Given the description of an element on the screen output the (x, y) to click on. 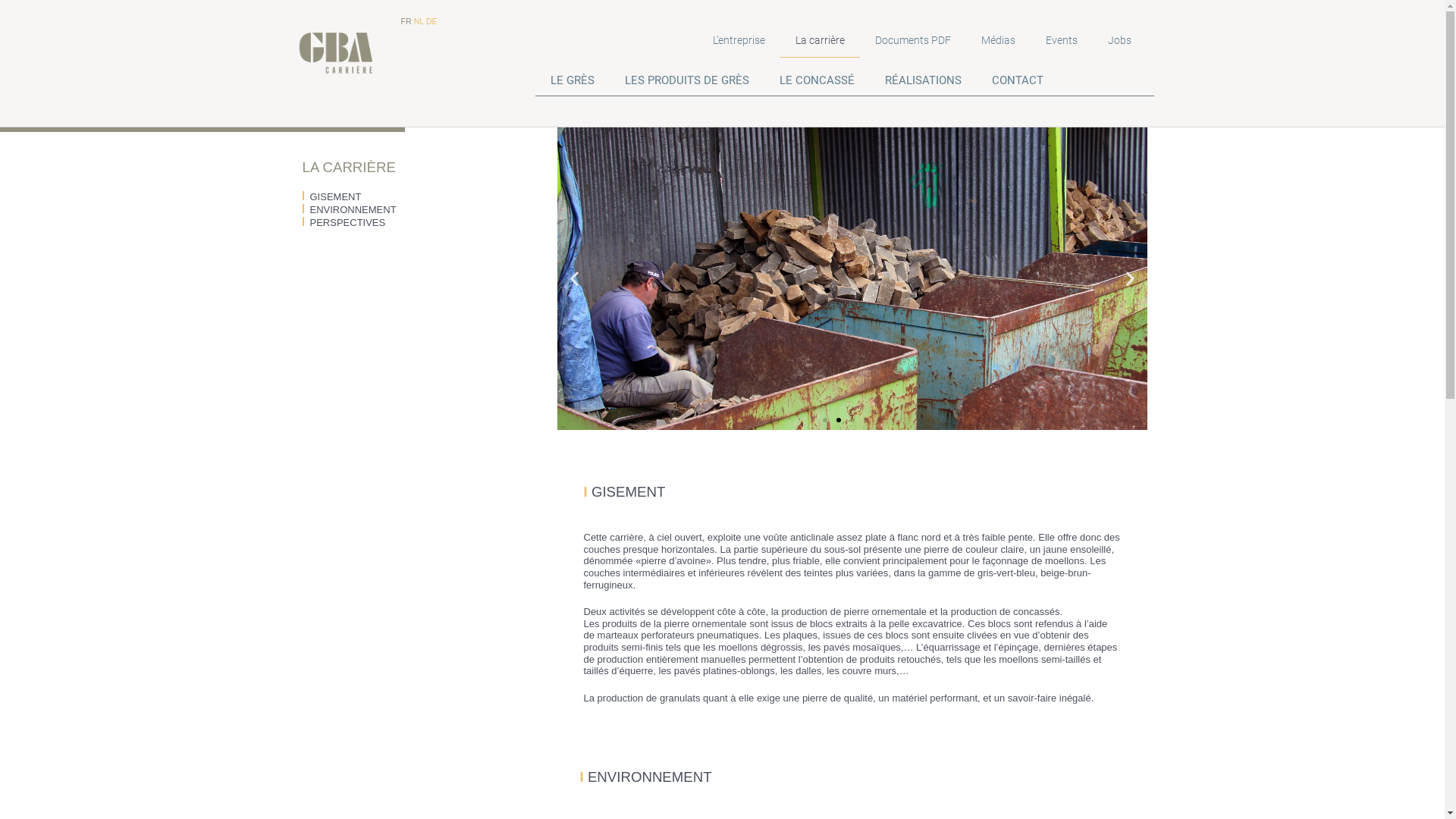
Jobs Element type: text (1119, 39)
CONTACT Element type: text (1017, 80)
GISEMENT Element type: text (330, 196)
NL Element type: text (418, 20)
PERSPECTIVES Element type: text (343, 222)
Documents PDF Element type: text (912, 39)
Events Element type: text (1061, 39)
ENVIRONNEMENT Element type: text (348, 209)
DE Element type: text (431, 20)
